Given the description of an element on the screen output the (x, y) to click on. 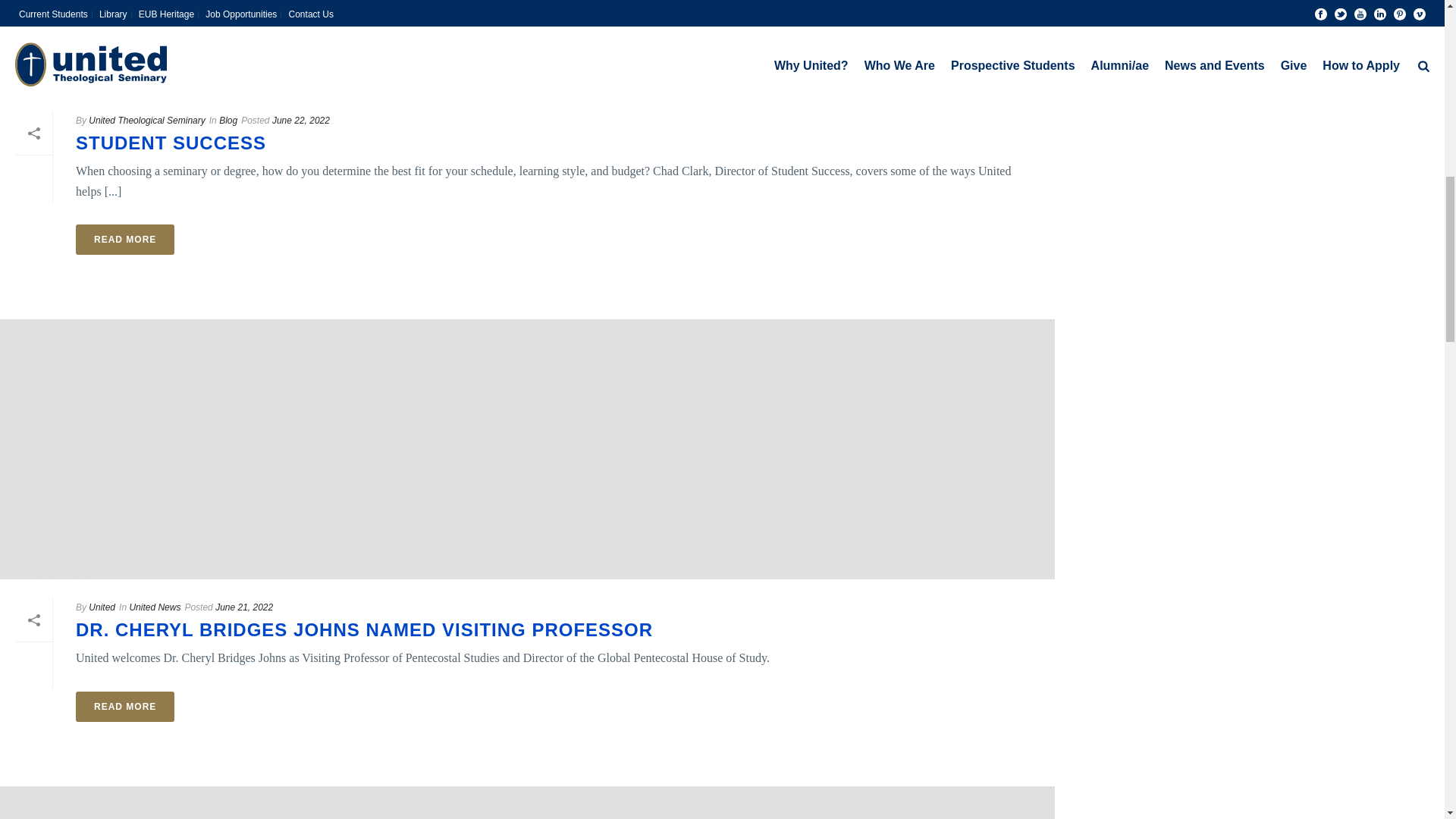
Academic conference focuses on Pietist movement (527, 802)
READ MORE (124, 239)
Posts by United Theological Seminary (146, 120)
Posts by United (101, 606)
Student Success (527, 46)
READ MORE (124, 706)
